Given the description of an element on the screen output the (x, y) to click on. 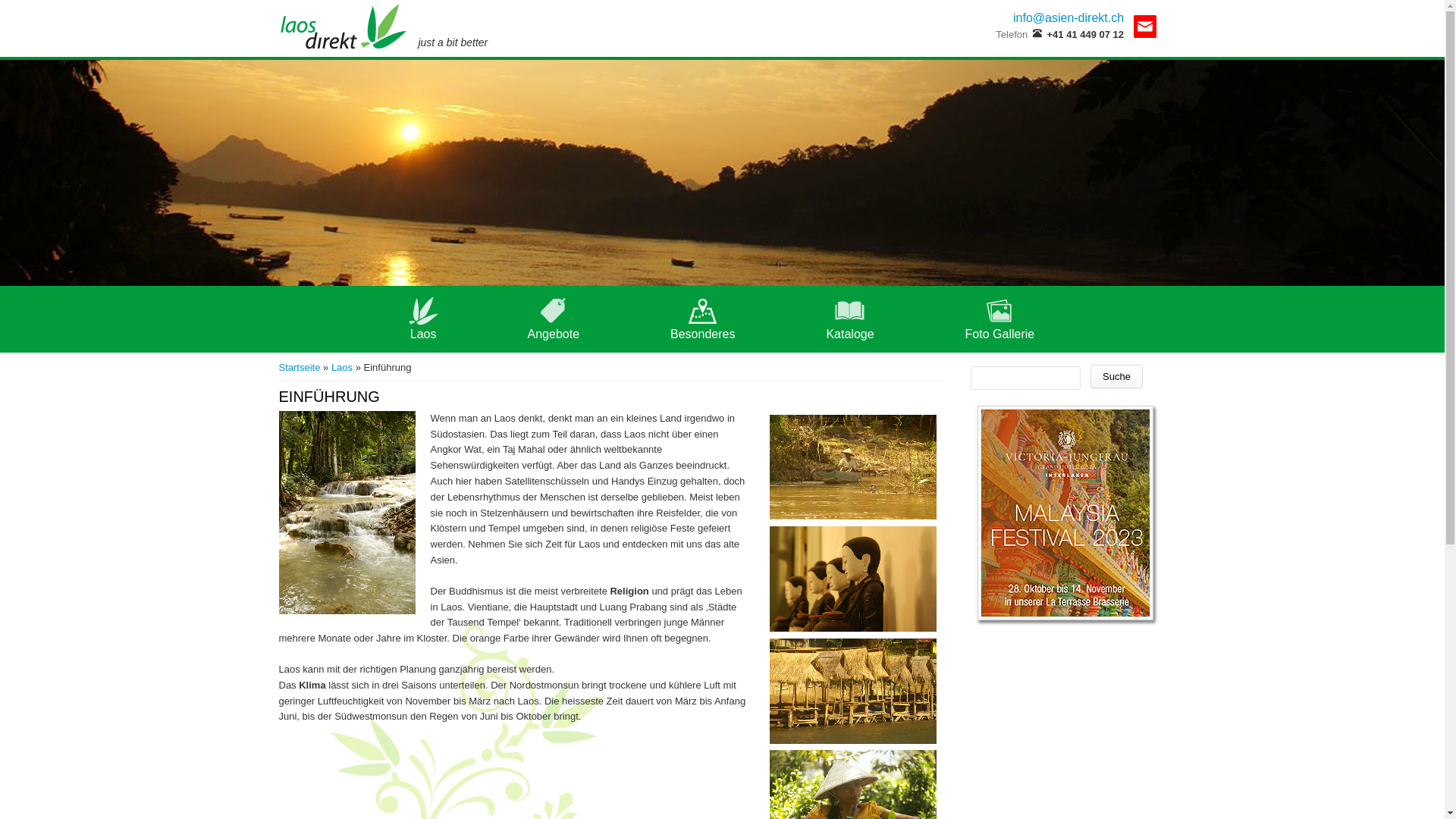
Foto Gallerie Element type: text (999, 311)
Laos Element type: text (341, 367)
Geben Sie die Begriffe ein, nach denen Sie suchen. Element type: hover (1025, 377)
Kataloge Element type: text (849, 311)
info@asien-direkt.ch Element type: text (1068, 17)
Suche Element type: text (1116, 376)
Besonderes Element type: text (702, 311)
Laos Element type: text (423, 311)
Startseite Element type: text (299, 367)
Angebote Element type: text (553, 311)
